Given the description of an element on the screen output the (x, y) to click on. 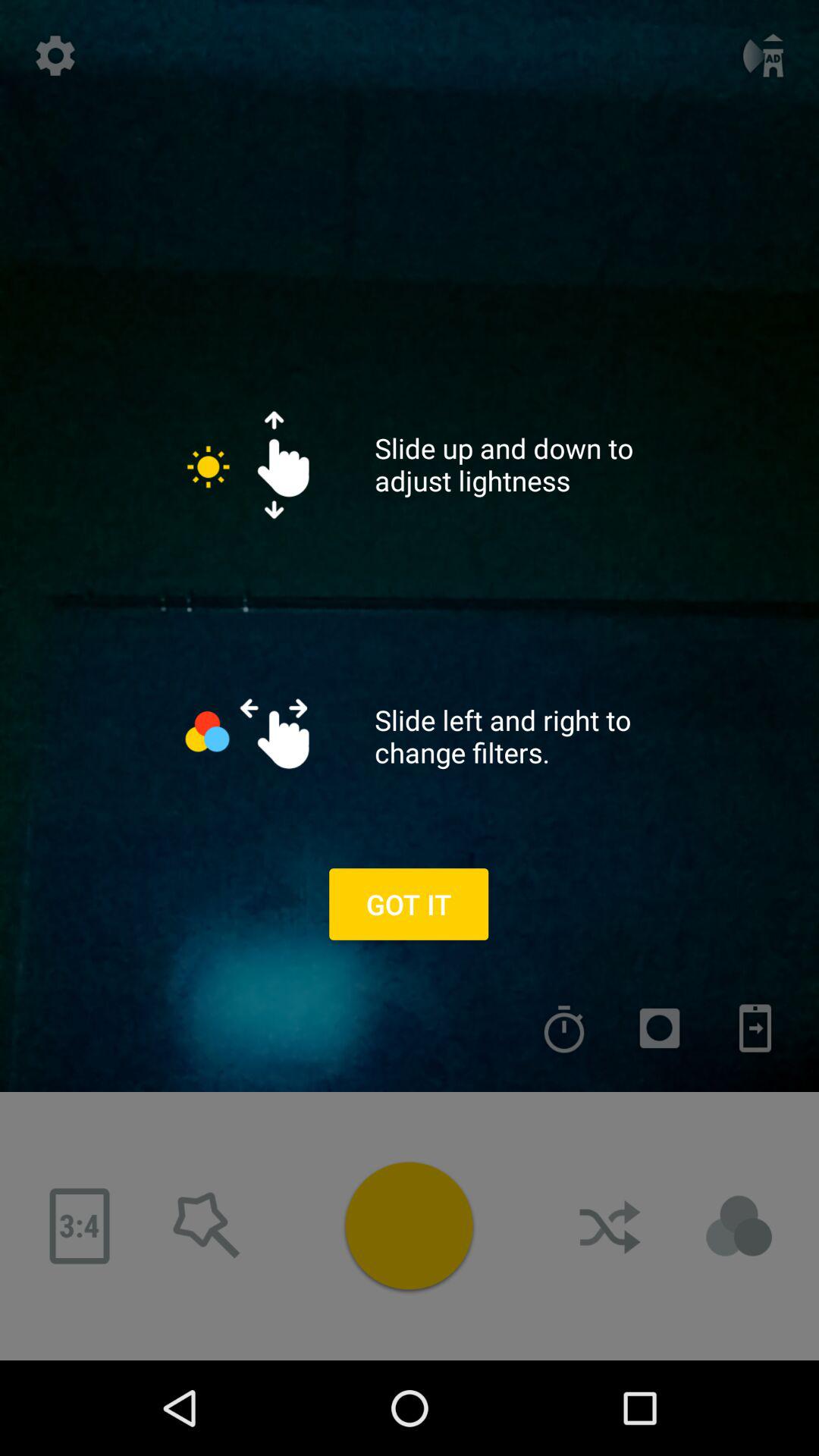
setting (55, 55)
